Given the description of an element on the screen output the (x, y) to click on. 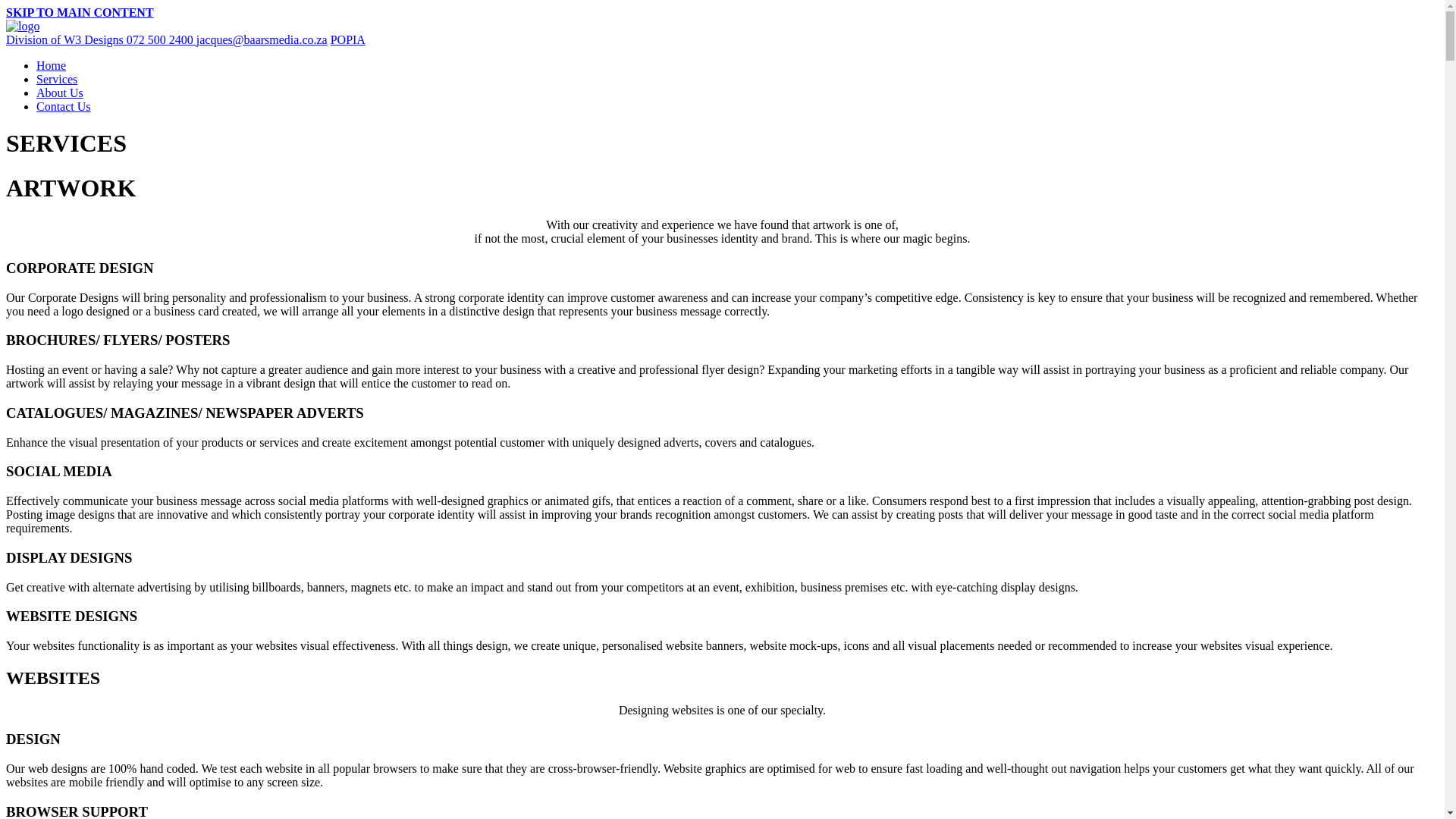
Home (50, 65)
Division of W3 Designs (65, 39)
About Us (59, 92)
Services (56, 78)
072 500 2400 (159, 39)
Contact Us (63, 106)
POPIA (347, 39)
SKIP TO MAIN CONTENT (79, 11)
